Given the description of an element on the screen output the (x, y) to click on. 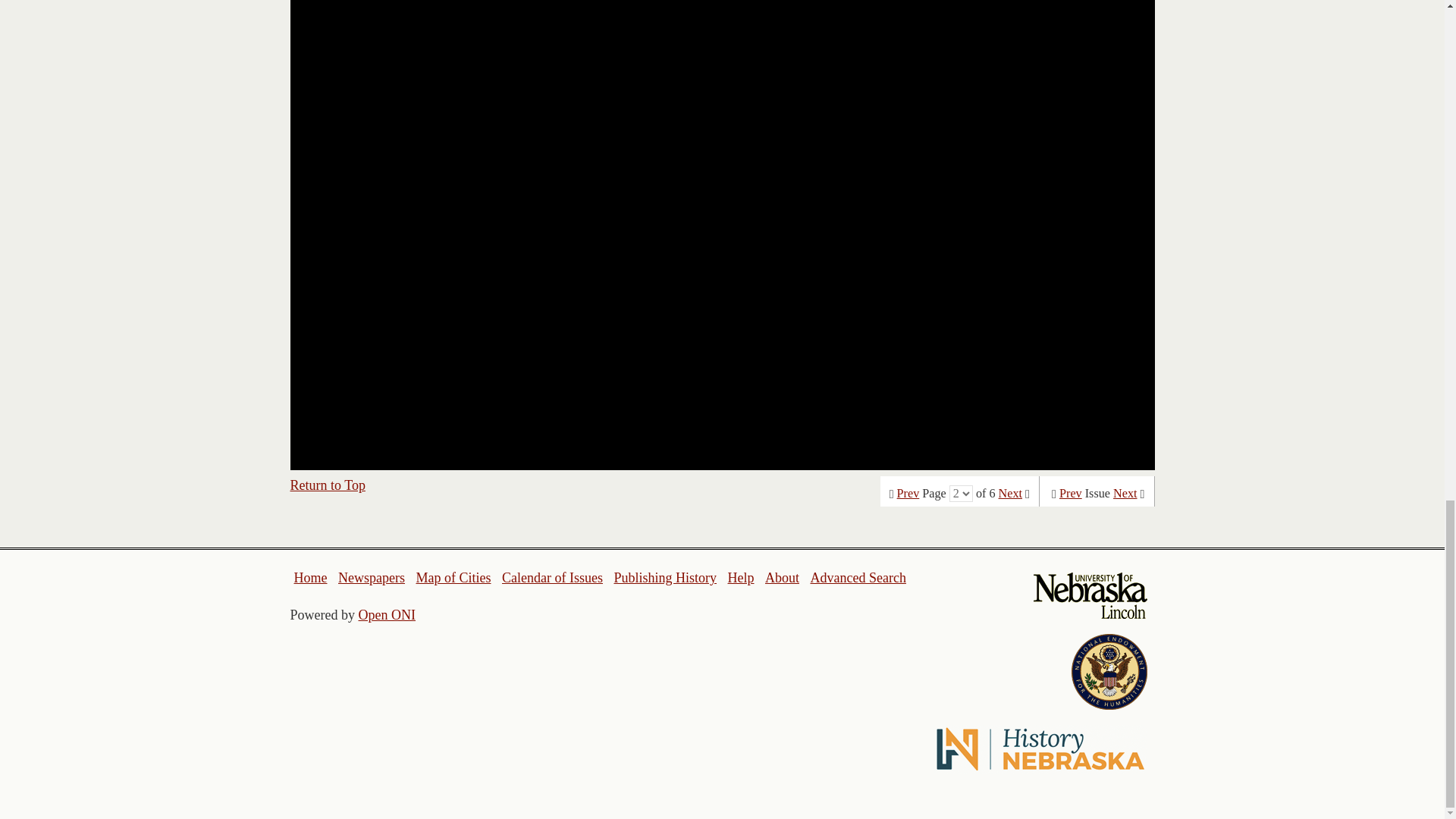
Advanced Search (857, 577)
Newspapers (370, 577)
Open ONI (386, 614)
Next (1010, 493)
About (782, 577)
Next (1125, 493)
Publishing History (664, 577)
Map of Cities (452, 577)
Return to Top (327, 485)
Prev (908, 493)
Help (740, 577)
Calendar of Issues (552, 577)
Prev (1070, 493)
Home (310, 577)
